Given the description of an element on the screen output the (x, y) to click on. 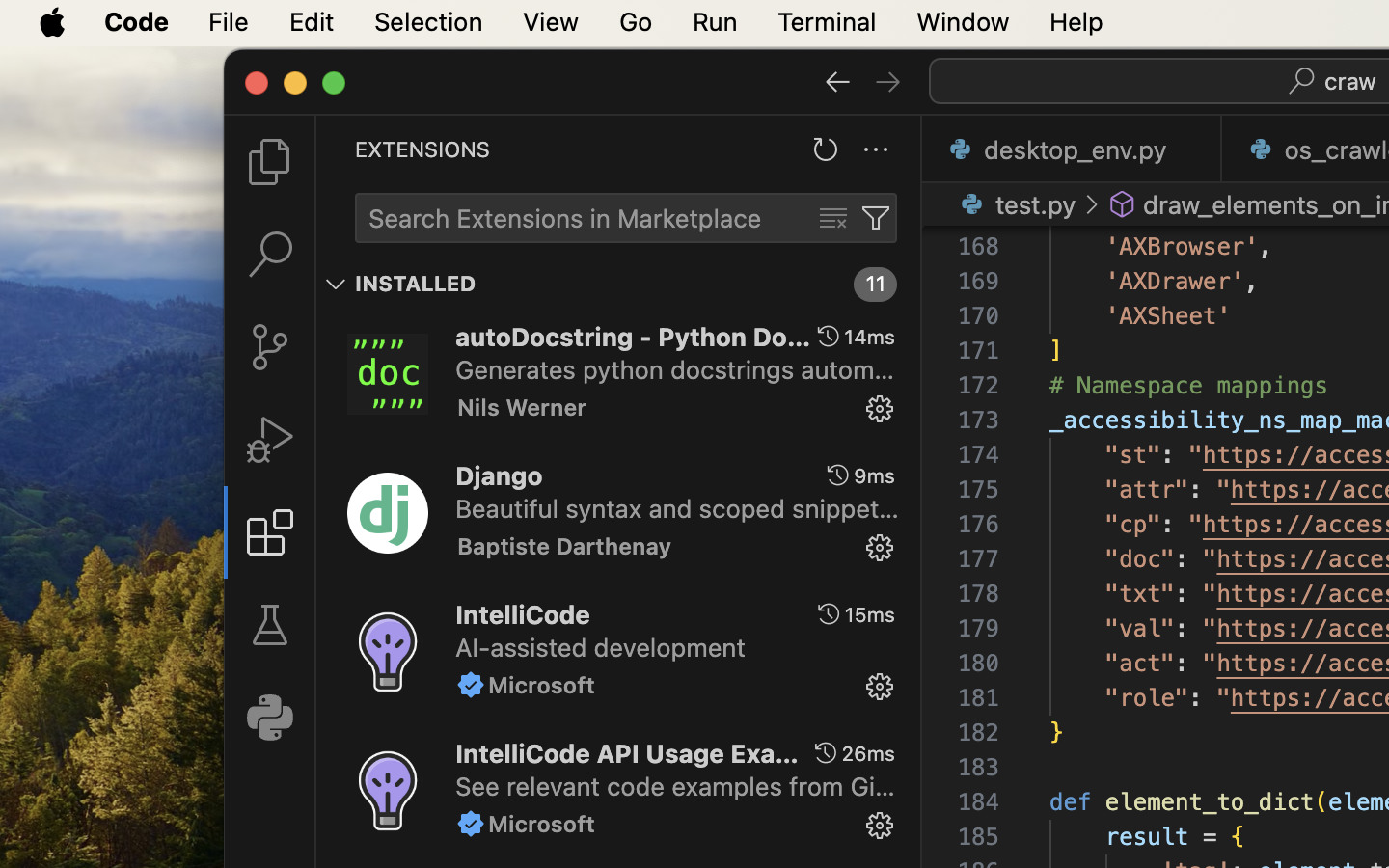
15ms Element type: AXStaticText (869, 613)
0 desktop_env.py   Element type: AXRadioButton (1072, 149)
 Element type: AXButton (888, 80)
 Element type: AXButton (879, 408)
Generates python docstrings automatically Element type: AXStaticText (675, 368)
